Given the description of an element on the screen output the (x, y) to click on. 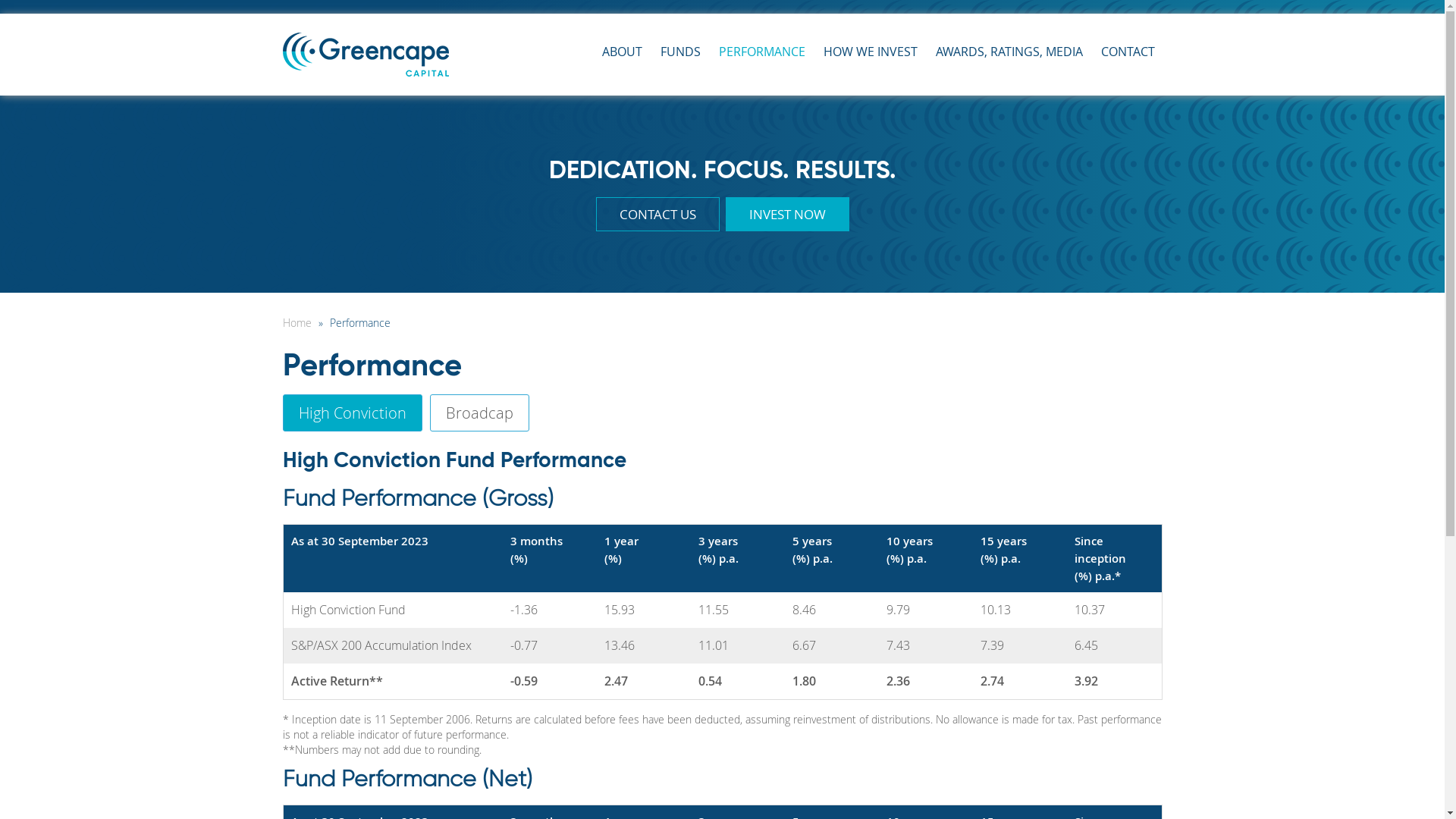
HOW WE INVEST Element type: text (870, 51)
Home Element type: text (298, 322)
PERFORMANCE Element type: text (761, 51)
FUNDS Element type: text (679, 51)
INVEST NOW Element type: text (786, 214)
AWARDS, RATINGS, MEDIA Element type: text (1008, 51)
ABOUT Element type: text (622, 51)
CONTACT Element type: text (1127, 51)
CONTACT US Element type: text (657, 214)
